Given the description of an element on the screen output the (x, y) to click on. 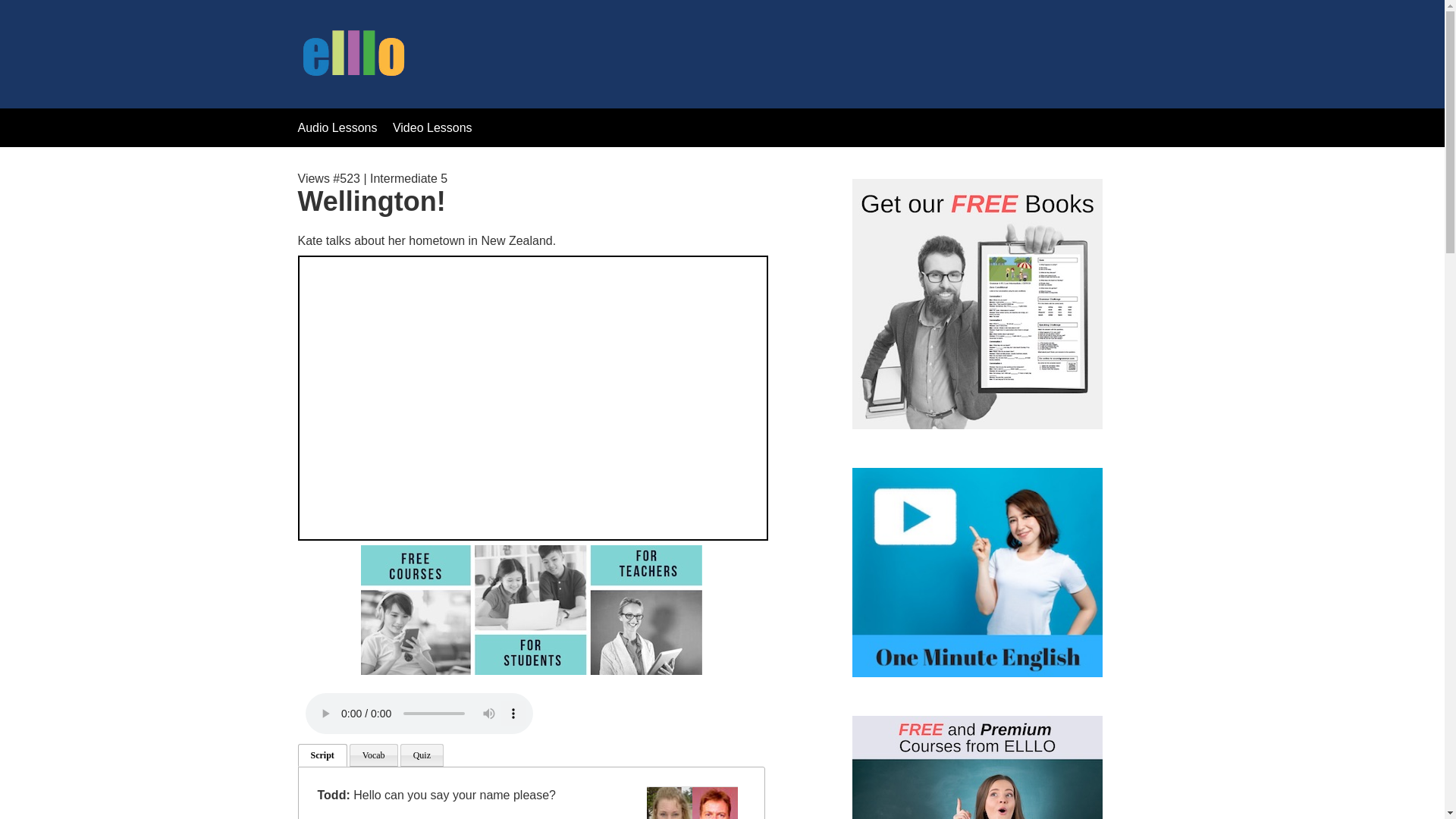
Vocab (373, 754)
Video Lessons (432, 127)
Audio Lessons (337, 127)
Script (321, 754)
Quiz (422, 754)
